Given the description of an element on the screen output the (x, y) to click on. 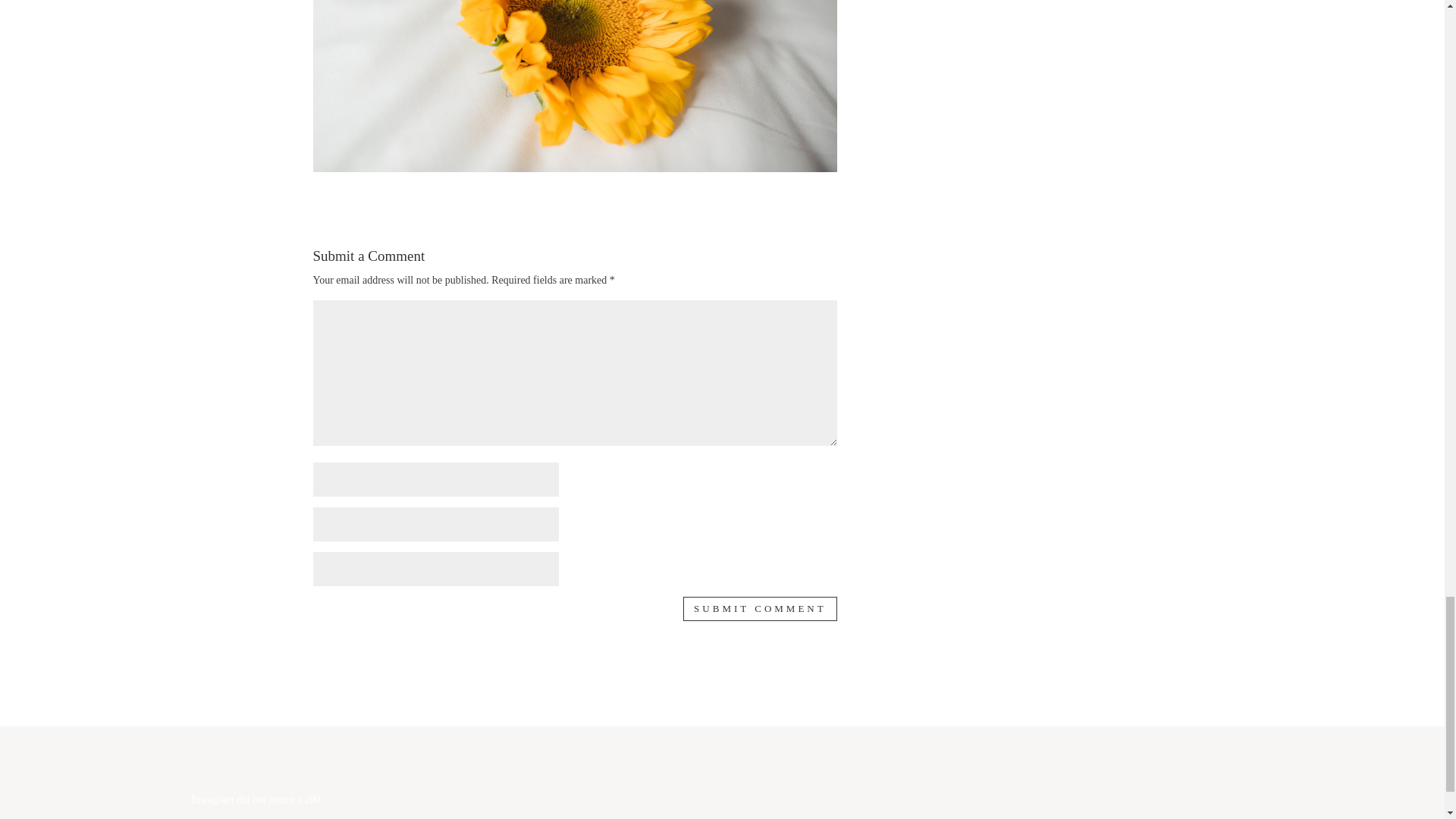
Submit Comment (759, 608)
